Given the description of an element on the screen output the (x, y) to click on. 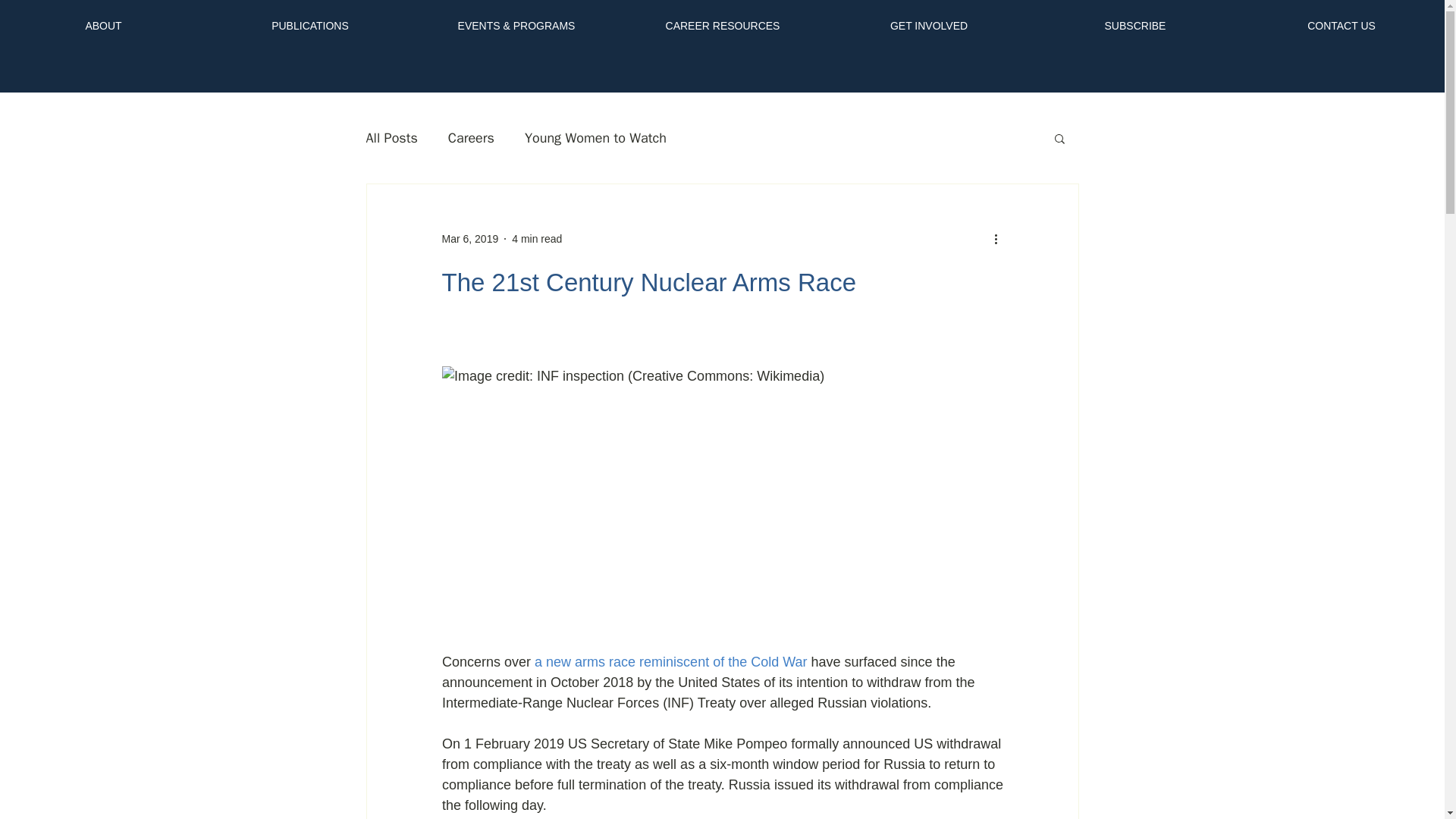
Mar 6, 2019 (469, 237)
Careers (471, 137)
Young Women to Watch (595, 137)
All Posts (390, 137)
SUBSCRIBE (1135, 19)
4 min read (537, 237)
a new arms race reminiscent of the Cold War (670, 661)
